Given the description of an element on the screen output the (x, y) to click on. 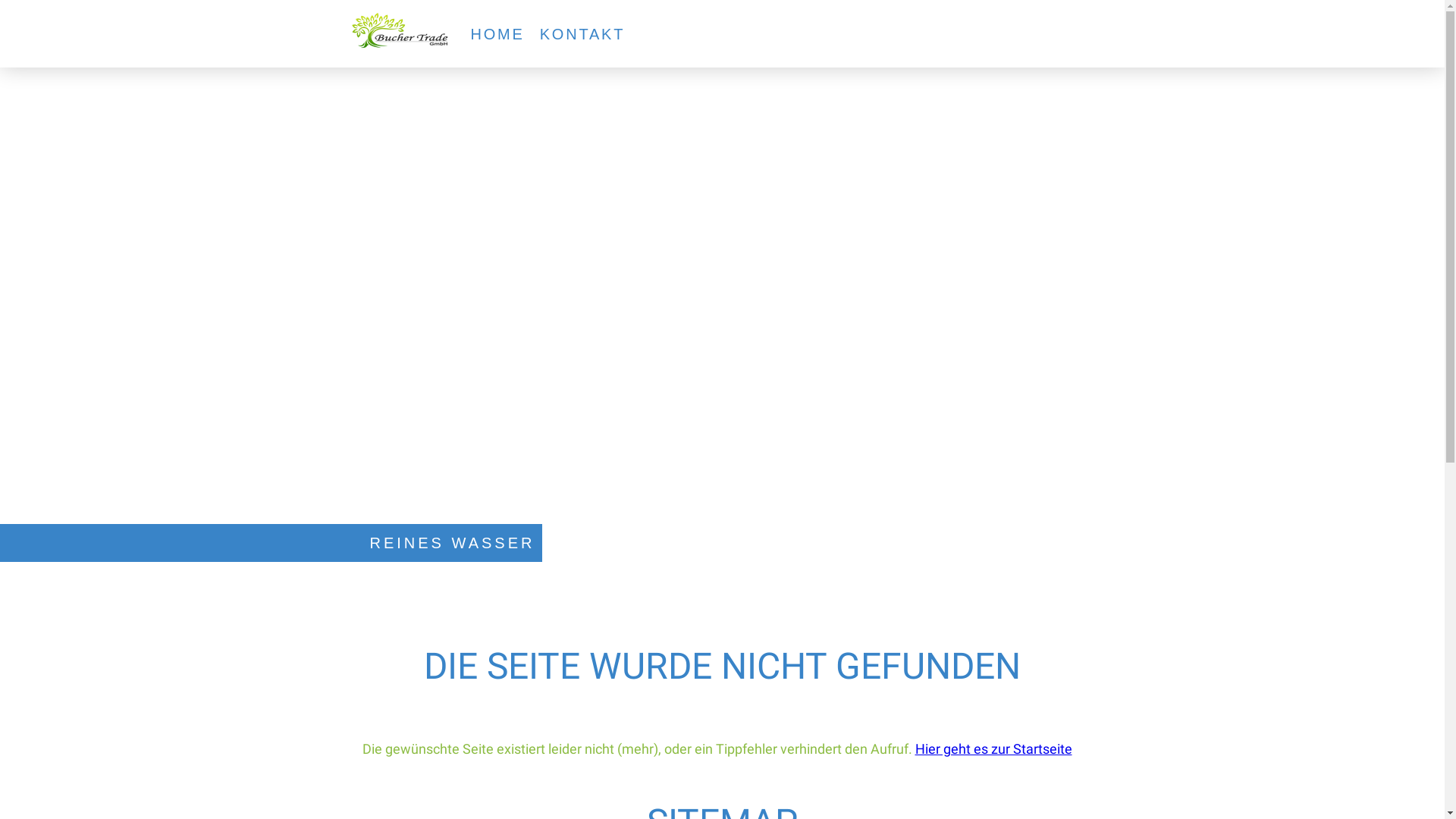
REINES WASSER Element type: text (452, 542)
HOME Element type: text (496, 34)
Hier geht es zur Startseite Element type: text (992, 748)
KONTAKT Element type: text (582, 34)
